Given the description of an element on the screen output the (x, y) to click on. 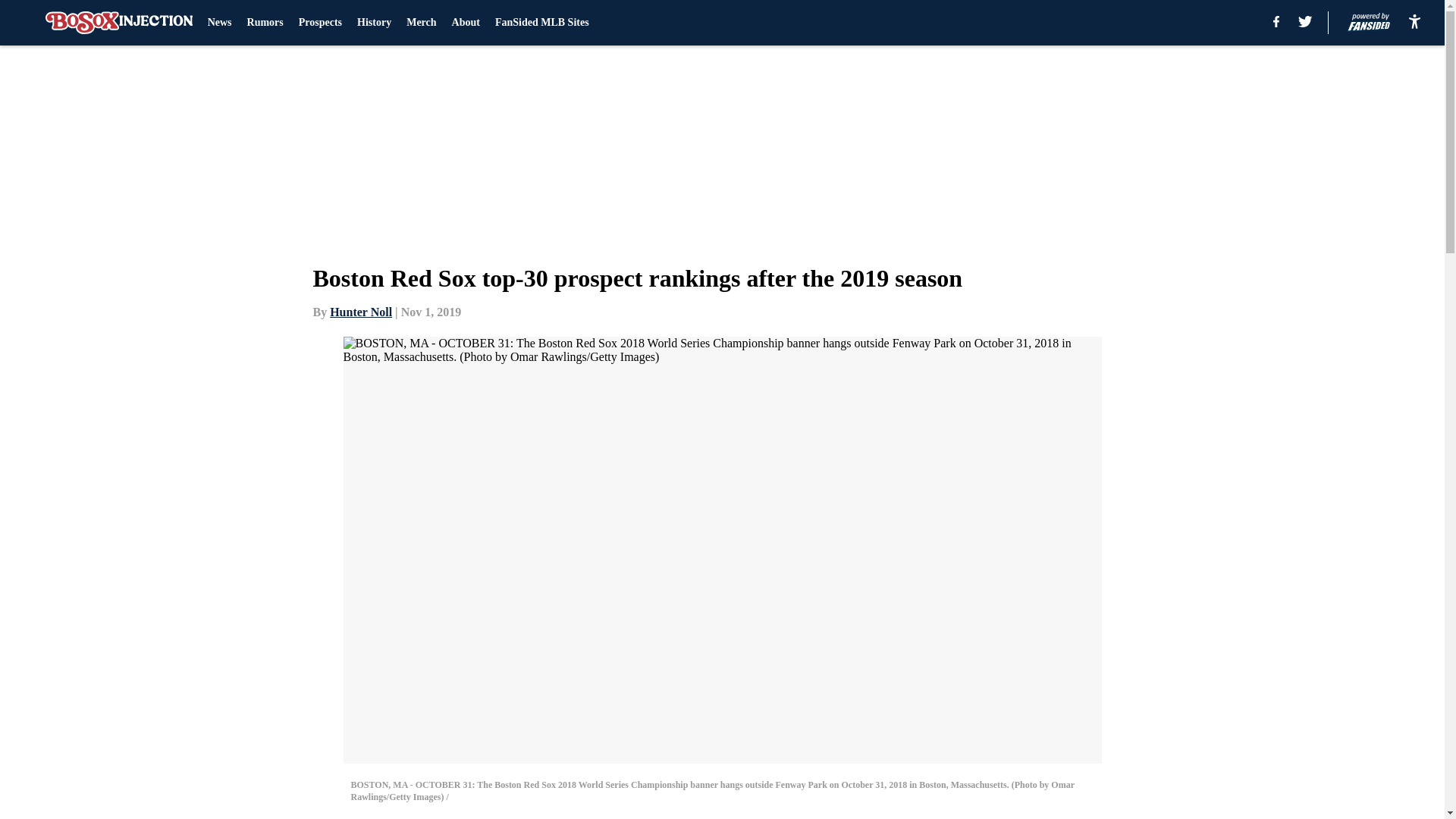
FanSided MLB Sites (542, 22)
Rumors (265, 22)
History (373, 22)
News (219, 22)
Prospects (320, 22)
Merch (420, 22)
About (465, 22)
Hunter Noll (360, 311)
